Given the description of an element on the screen output the (x, y) to click on. 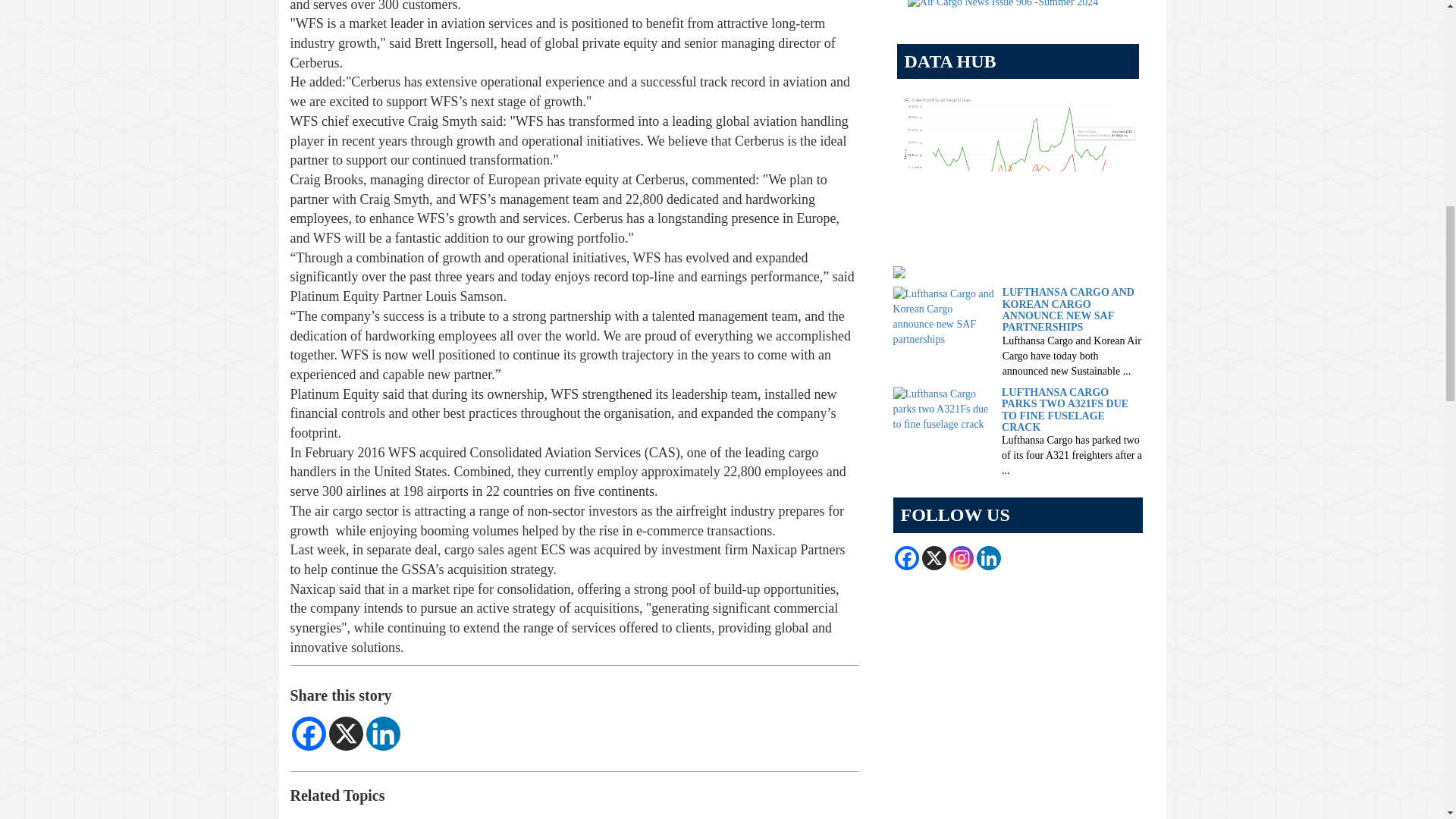
Linkedin (381, 733)
X (345, 733)
Air Cargo News Issue 906 -Summer 2024 (1002, 4)
Facebook (307, 733)
